Given the description of an element on the screen output the (x, y) to click on. 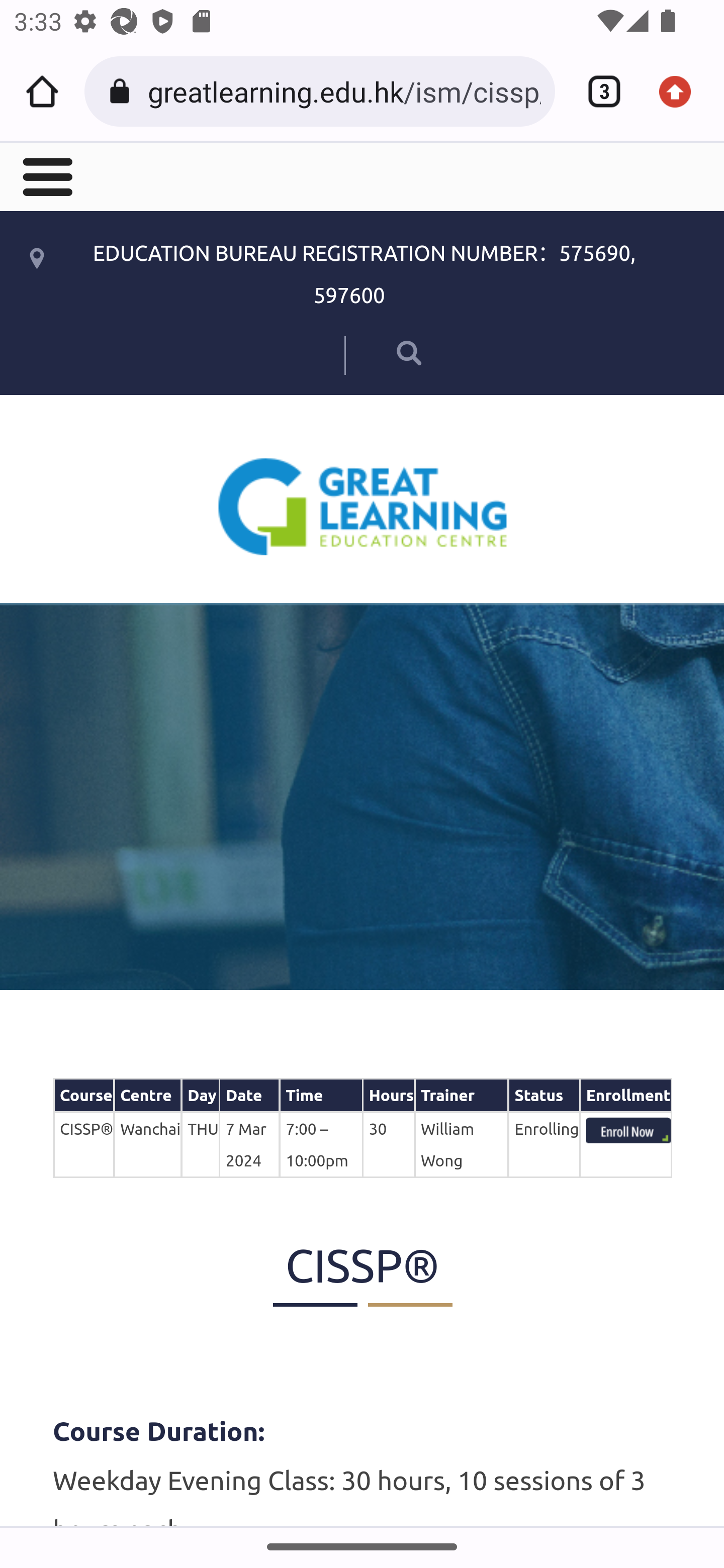
Home (42, 91)
Connection is secure (122, 91)
Switch or close tabs (597, 91)
Update available. More options (681, 91)
 (45, 175)
 (382, 351)
Welcome to Great Learning Education Centre (362, 505)
index (627, 1130)
